Given the description of an element on the screen output the (x, y) to click on. 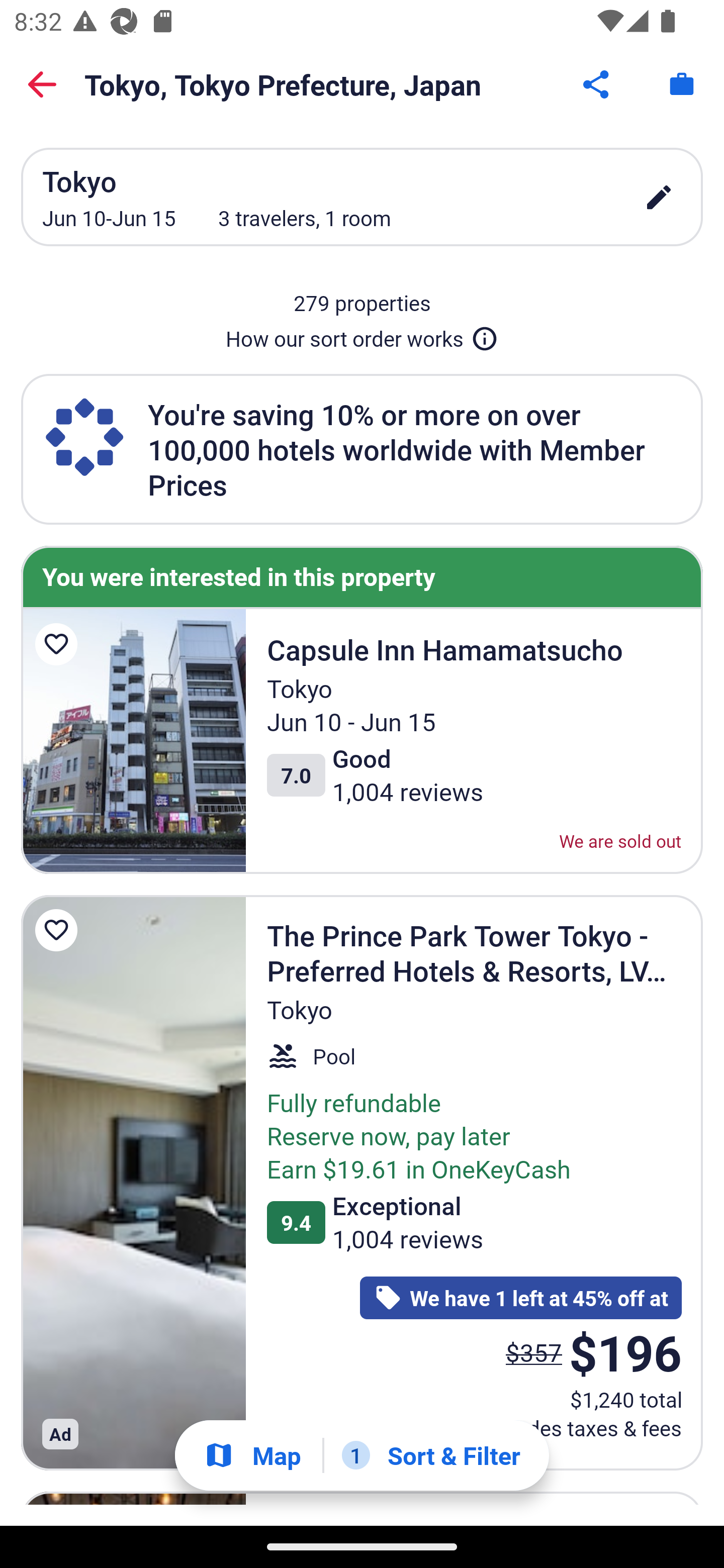
Back (42, 84)
Share Button (597, 84)
Trips. Button (681, 84)
Tokyo Jun 10-Jun 15 3 travelers, 1 room edit (361, 196)
How our sort order works (361, 334)
Save Capsule Inn Hamamatsucho to a trip (59, 644)
Capsule Inn Hamamatsucho (133, 740)
Capsule Inn Hamamatsucho (128, 1340)
$357 The price was $357 (533, 1351)
1 Sort & Filter 1 Filter applied. Filters Button (430, 1455)
Show map Map Show map Button (252, 1455)
